Given the description of an element on the screen output the (x, y) to click on. 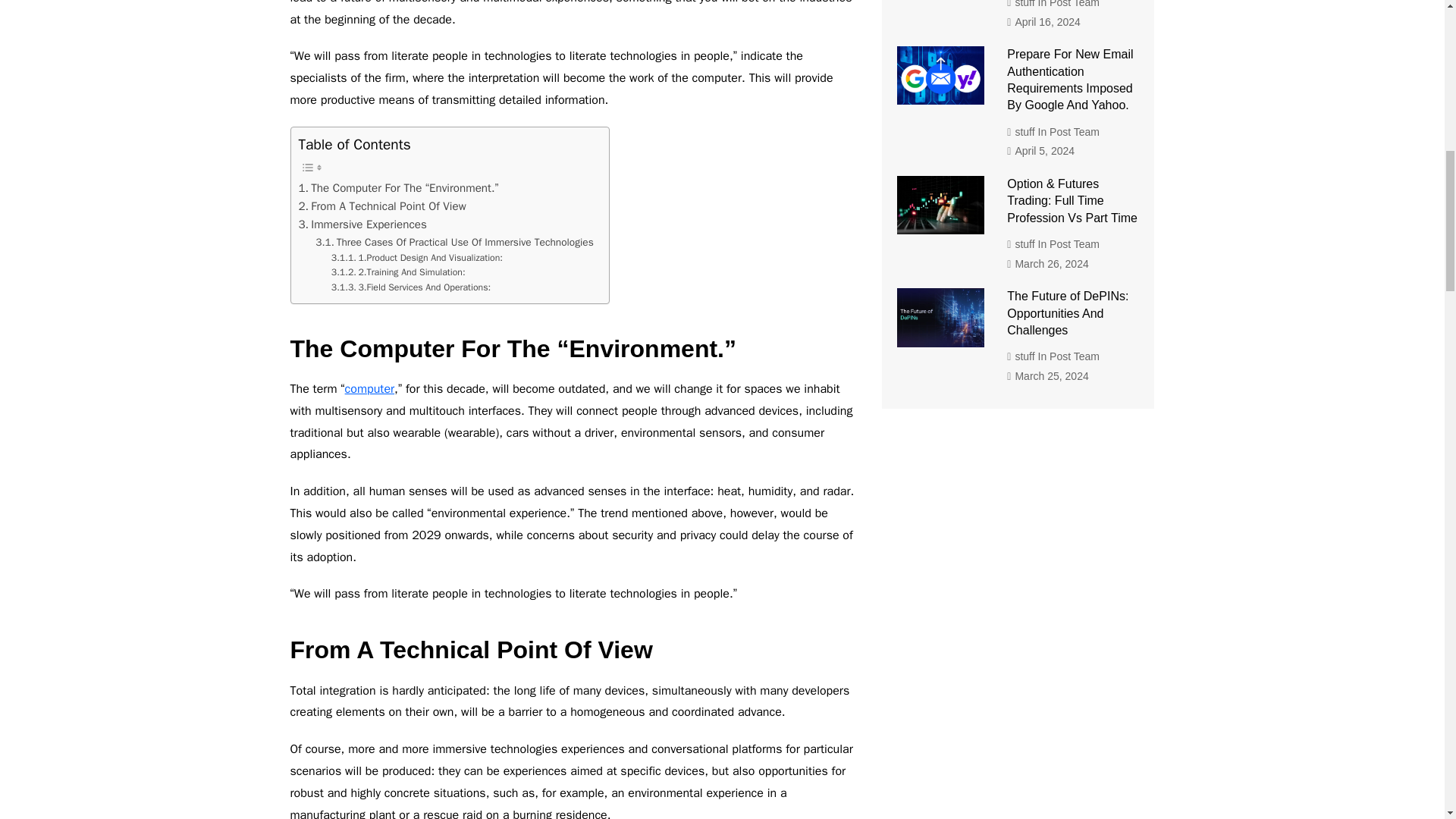
Three Cases Of Practical Use Of Immersive Technologies (454, 242)
2.Training And Simulation: (398, 272)
From A Technical Point Of View (381, 206)
Three Cases Of Practical Use Of Immersive Technologies (454, 242)
3.Field Services And Operations: (411, 287)
3.Field Services And Operations: (411, 287)
From A Technical Point Of View (381, 206)
1.Product Design And Visualization: (416, 257)
1.Product Design And Visualization: (416, 257)
Immersive Experiences (362, 224)
